Given the description of an element on the screen output the (x, y) to click on. 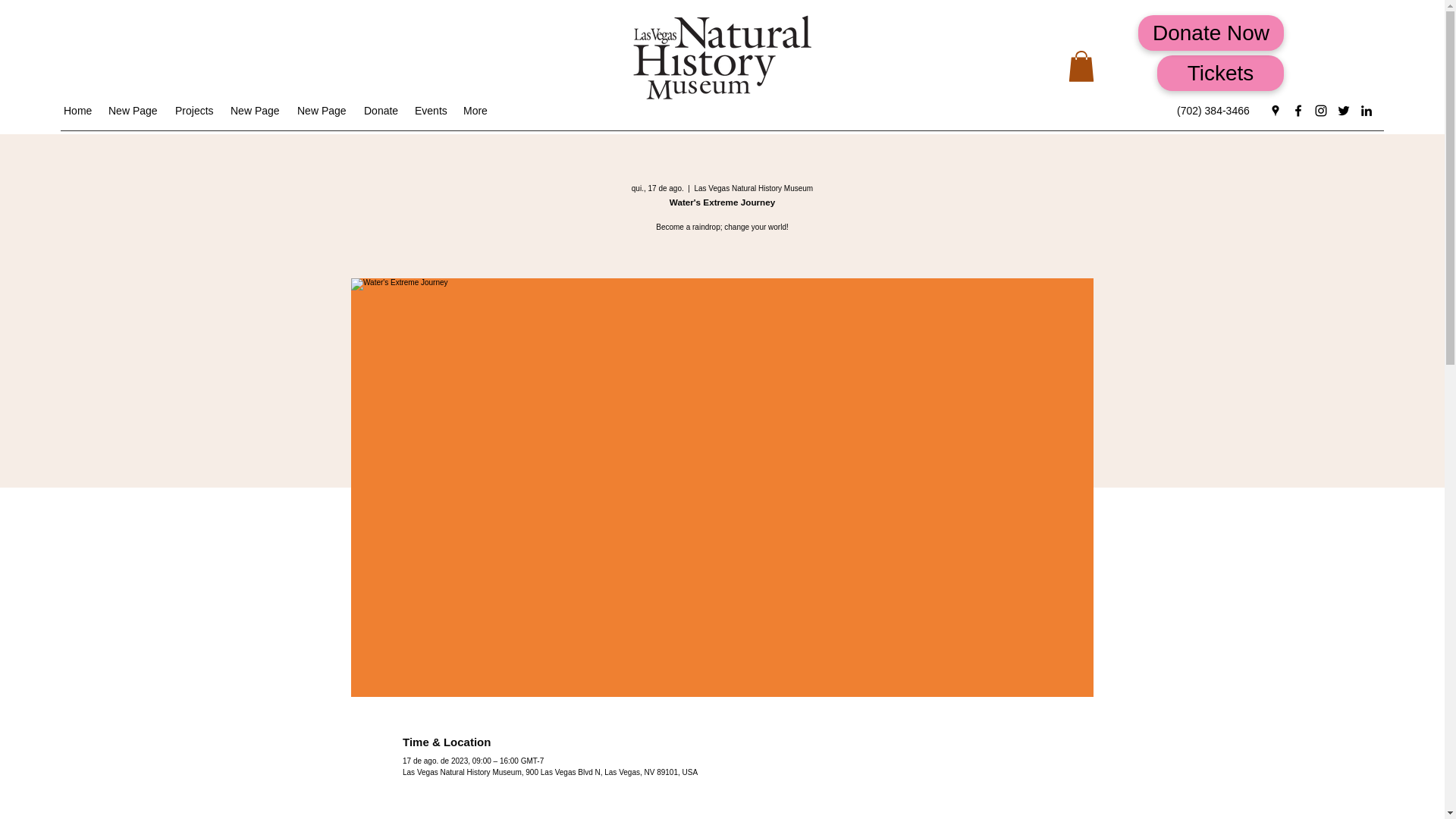
New Page (255, 110)
Home (78, 110)
New Page (133, 110)
Donate (381, 110)
Events (431, 110)
New Page (322, 110)
Donate Now (1211, 32)
Projects (194, 110)
Tickets (1220, 72)
